Given the description of an element on the screen output the (x, y) to click on. 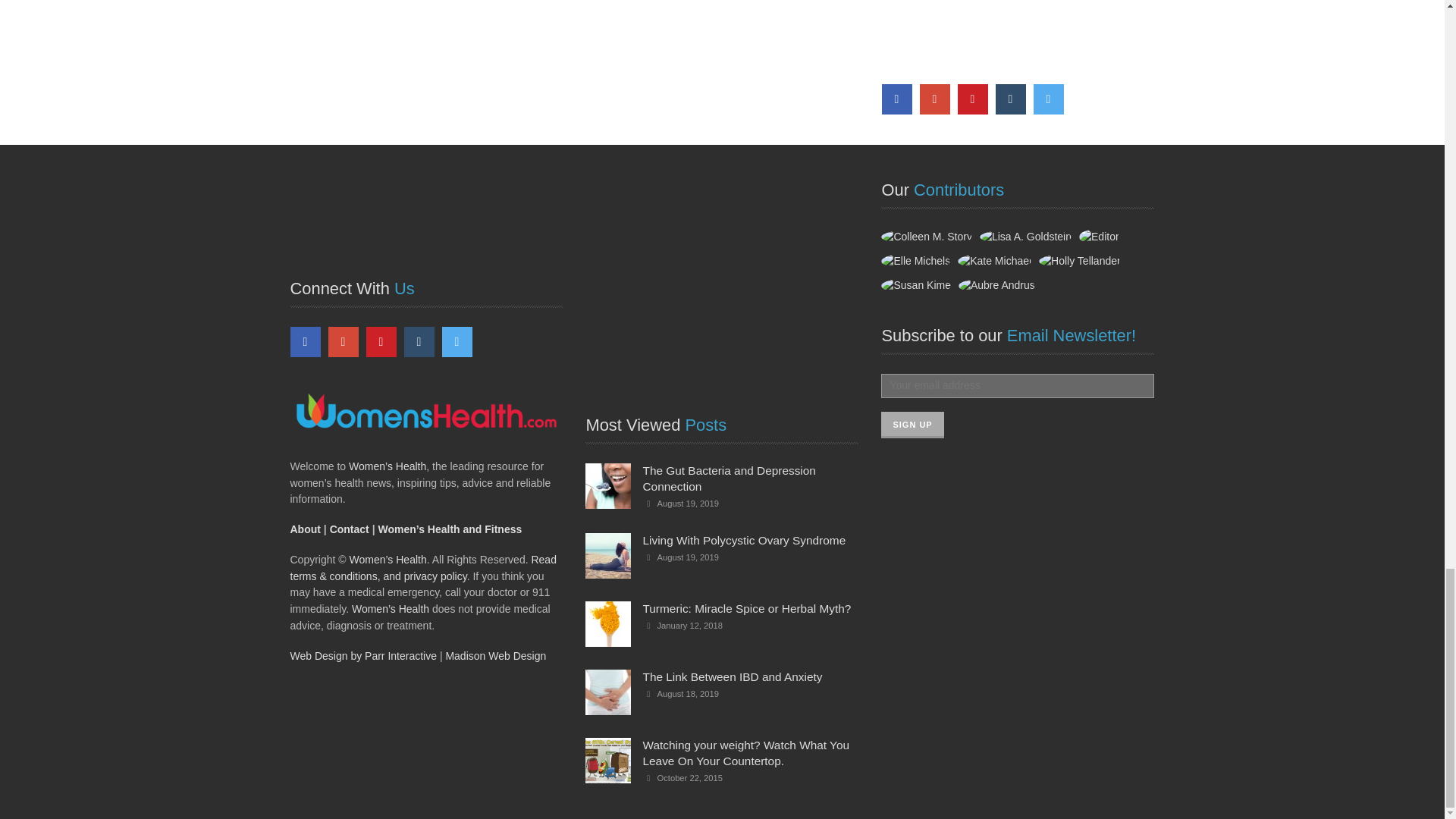
Sign up (911, 424)
